Given the description of an element on the screen output the (x, y) to click on. 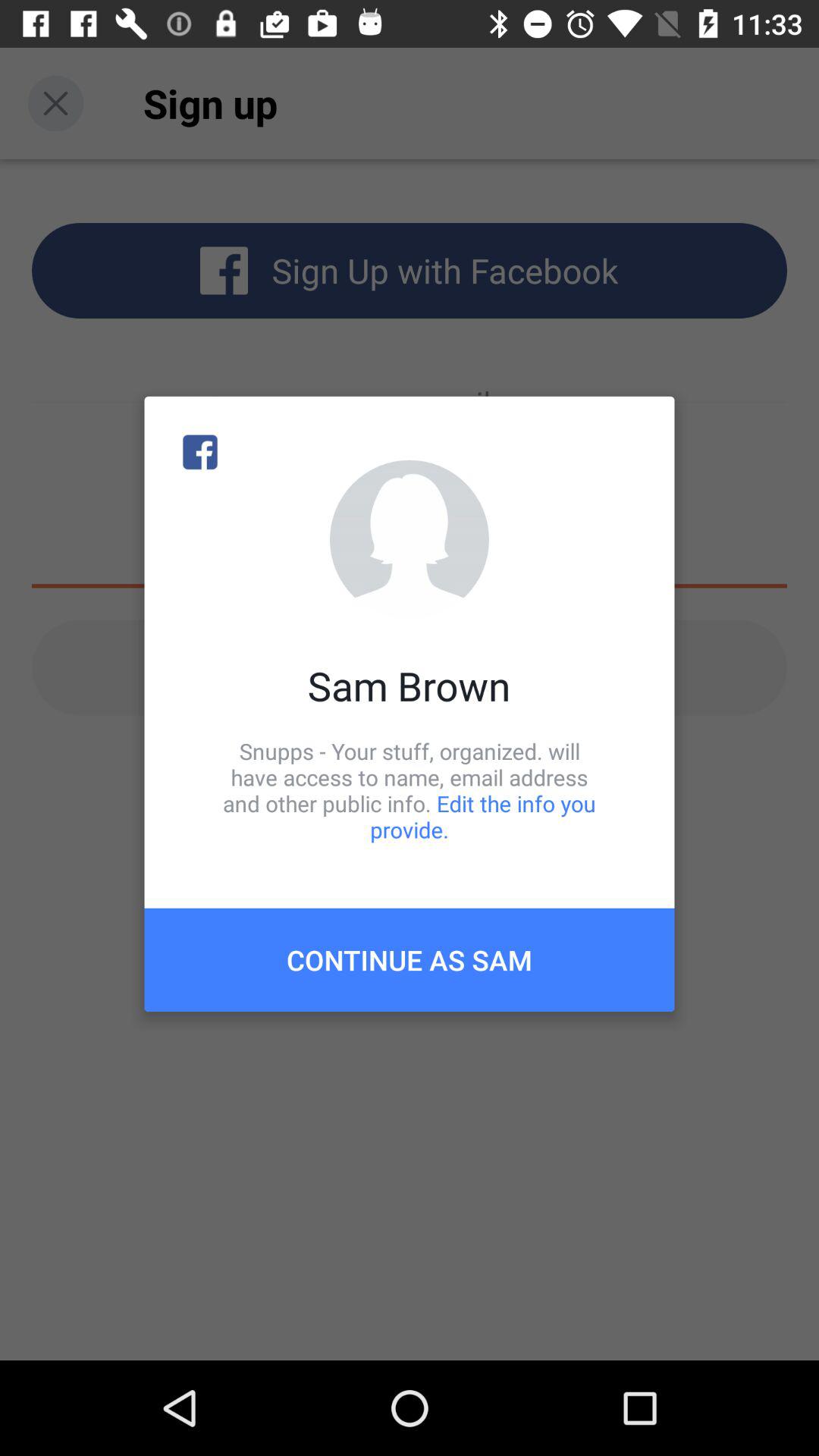
click icon above the continue as sam icon (409, 789)
